Given the description of an element on the screen output the (x, y) to click on. 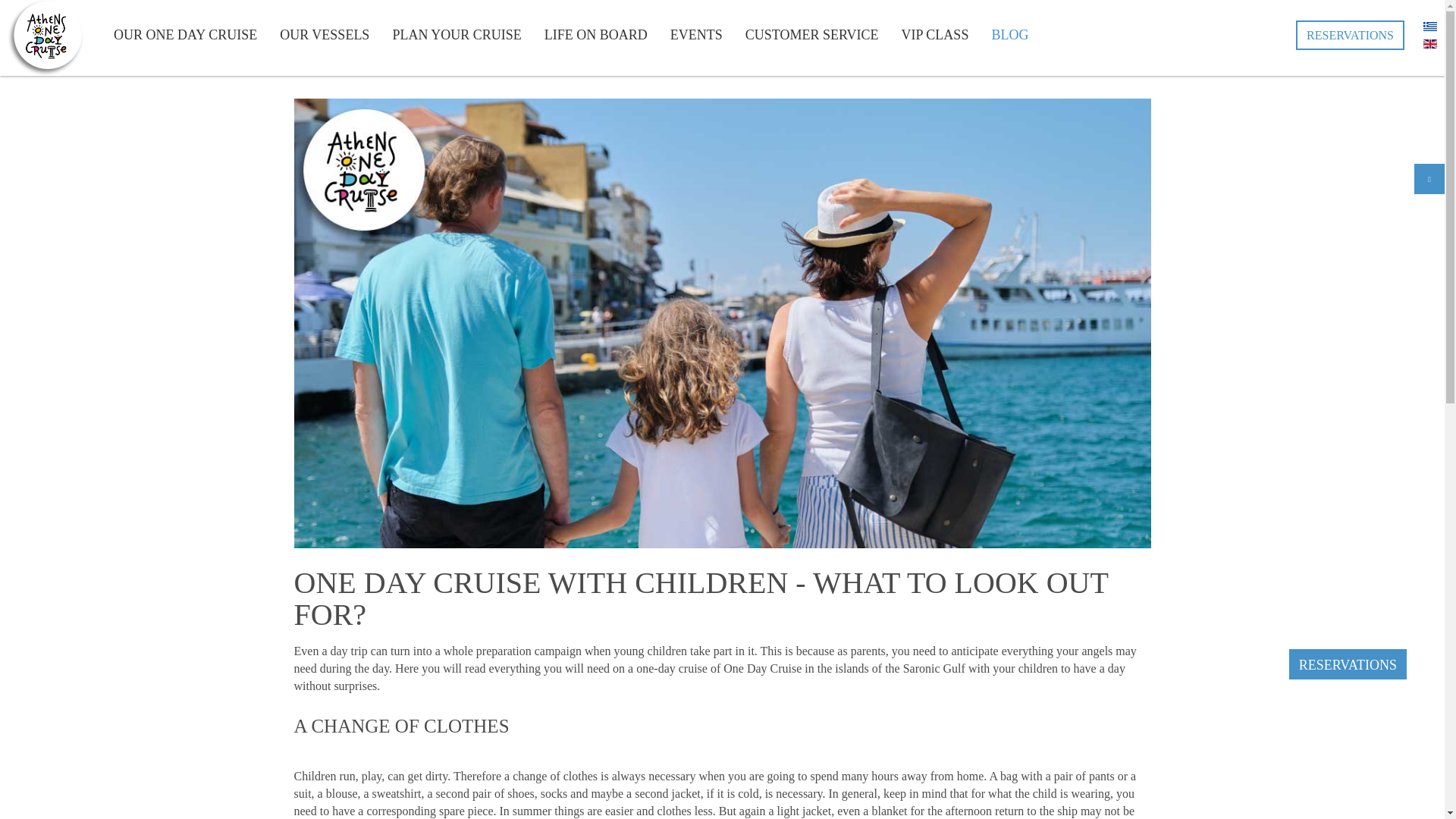
EVENTS (696, 34)
OUR ONE DAY CRUISE (184, 34)
CUSTOMER SERVICE (811, 34)
PLAN YOUR CRUISE (456, 34)
LIFE ON BOARD (595, 34)
OUR VESSELS (323, 34)
